Given the description of an element on the screen output the (x, y) to click on. 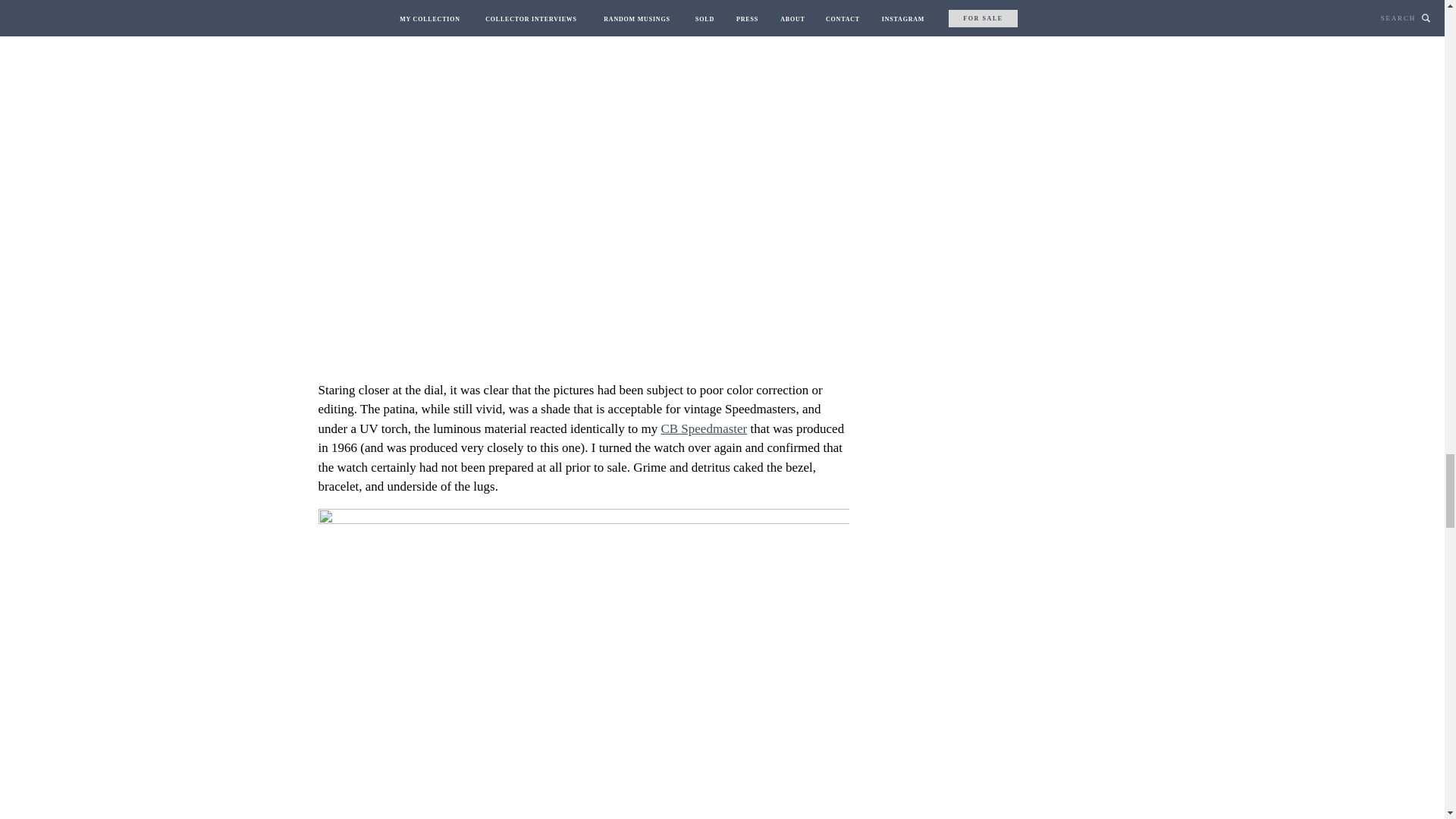
CB Speedmaster (703, 428)
